Given the description of an element on the screen output the (x, y) to click on. 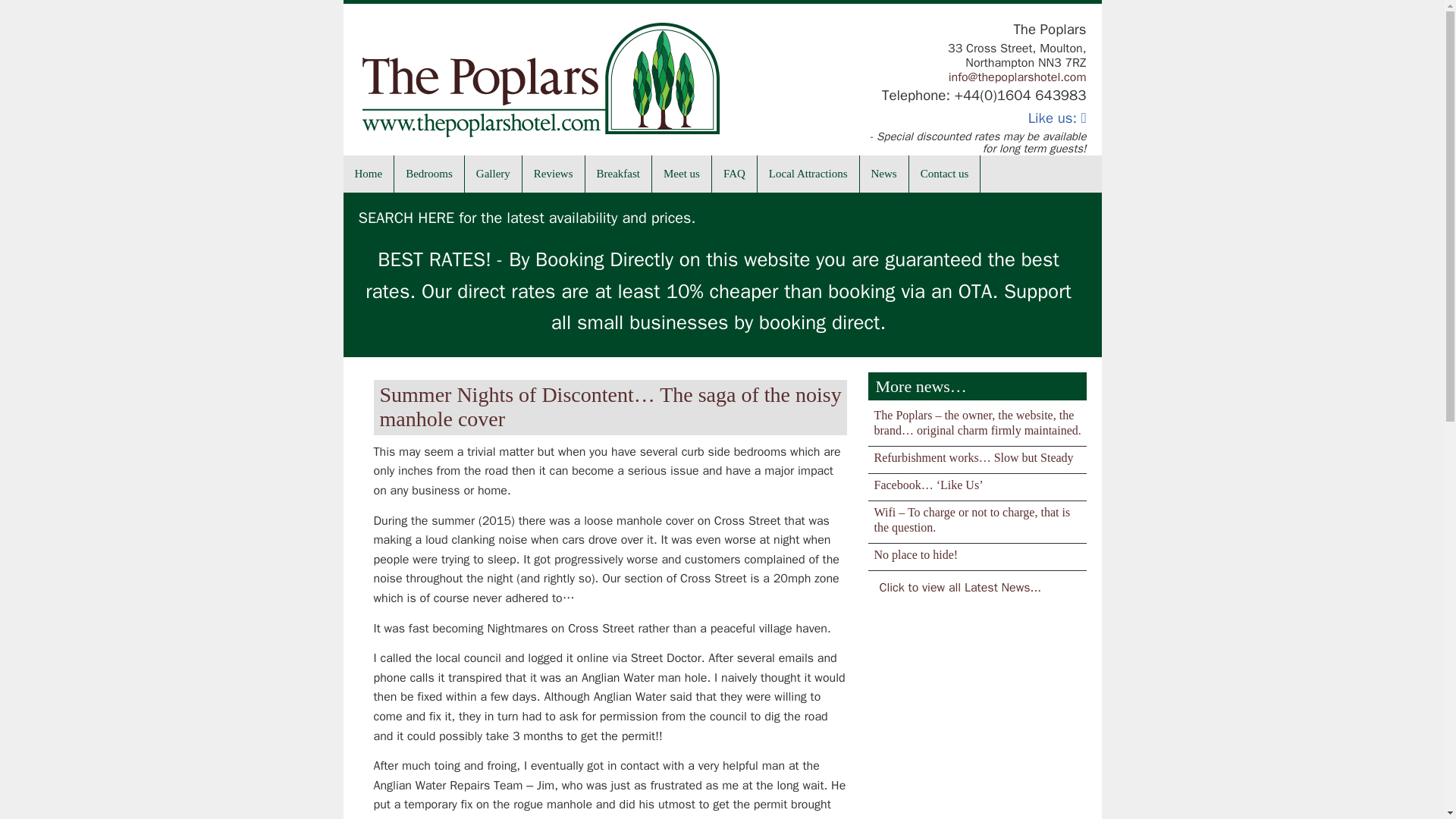
Breakfast (618, 173)
News (884, 173)
Local Attractions (808, 173)
Contact us (944, 173)
The Poplars Hotel (541, 88)
Reviews (553, 173)
FAQ (734, 173)
Home (368, 173)
No place to hide! (915, 554)
Bedrooms (429, 173)
Gallery (493, 173)
Latest News (960, 587)
Like us: (1056, 117)
Meet us (681, 173)
Click to view all Latest News... (960, 587)
